Given the description of an element on the screen output the (x, y) to click on. 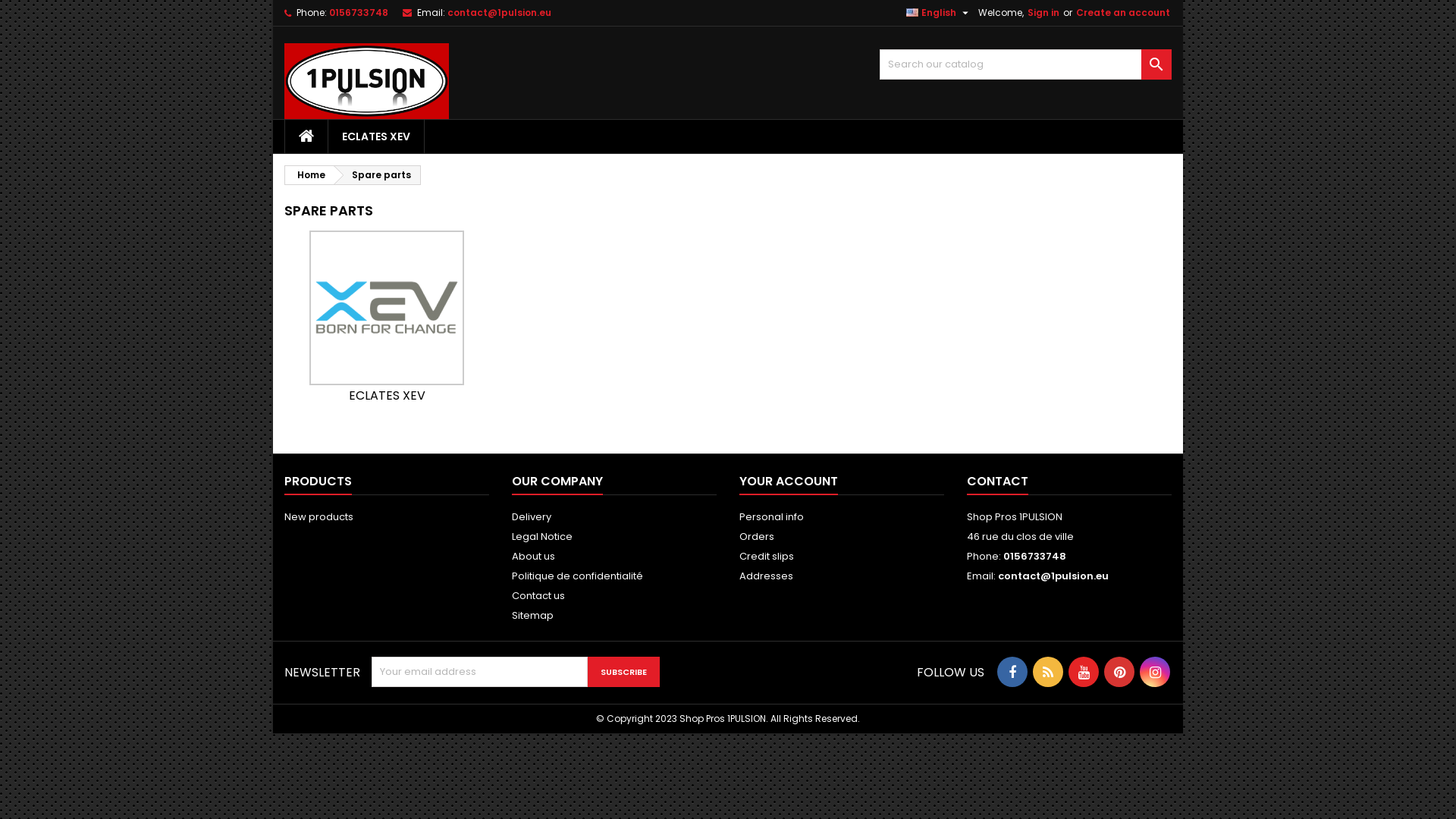
Addresses Element type: text (766, 575)
contact@1pulsion.eu Element type: text (499, 12)
contact@1pulsion.eu Element type: text (1052, 575)
Create an account Element type: text (1122, 12)
Home Element type: text (308, 175)
Delivery Element type: text (531, 516)
Contact us Element type: text (537, 595)
Legal Notice Element type: text (541, 536)
CONTACT Element type: text (997, 482)
Credit slips Element type: text (766, 556)
ECLATES XEV Element type: text (386, 362)
Orders Element type: text (756, 536)
Sign in Element type: text (1043, 12)
Sitemap Element type: text (532, 615)
About us Element type: text (533, 556)
Spare parts Element type: text (377, 175)
Subscribe Element type: text (623, 671)
ECLATES XEV Element type: text (375, 136)
New products Element type: text (318, 516)
Personal info Element type: text (771, 516)
YOUR ACCOUNT Element type: text (788, 482)
